Given the description of an element on the screen output the (x, y) to click on. 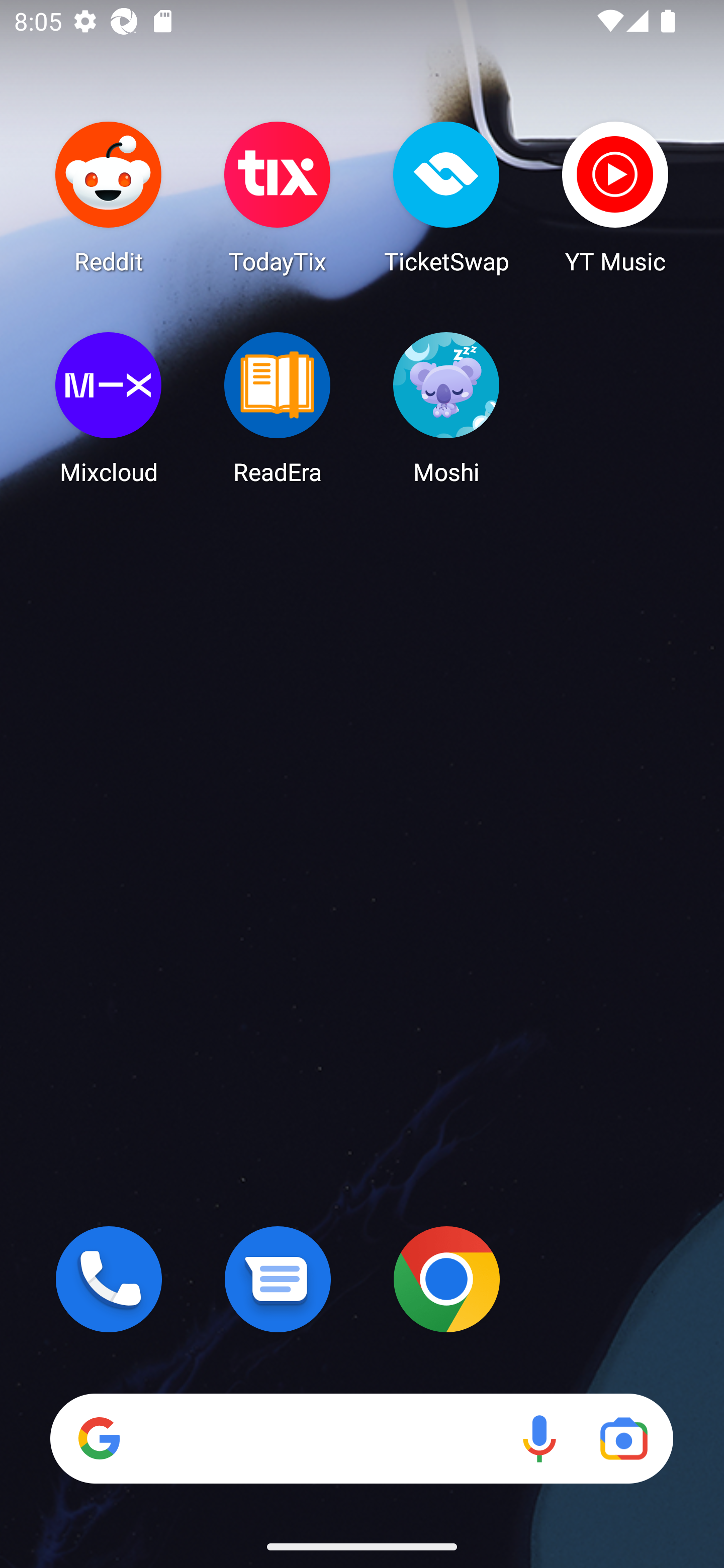
Reddit (108, 196)
TodayTix (277, 196)
TicketSwap (445, 196)
YT Music (615, 196)
Mixcloud (108, 407)
ReadEra (277, 407)
Moshi (445, 407)
Phone (108, 1279)
Messages (277, 1279)
Chrome (446, 1279)
Voice search (539, 1438)
Google Lens (623, 1438)
